Given the description of an element on the screen output the (x, y) to click on. 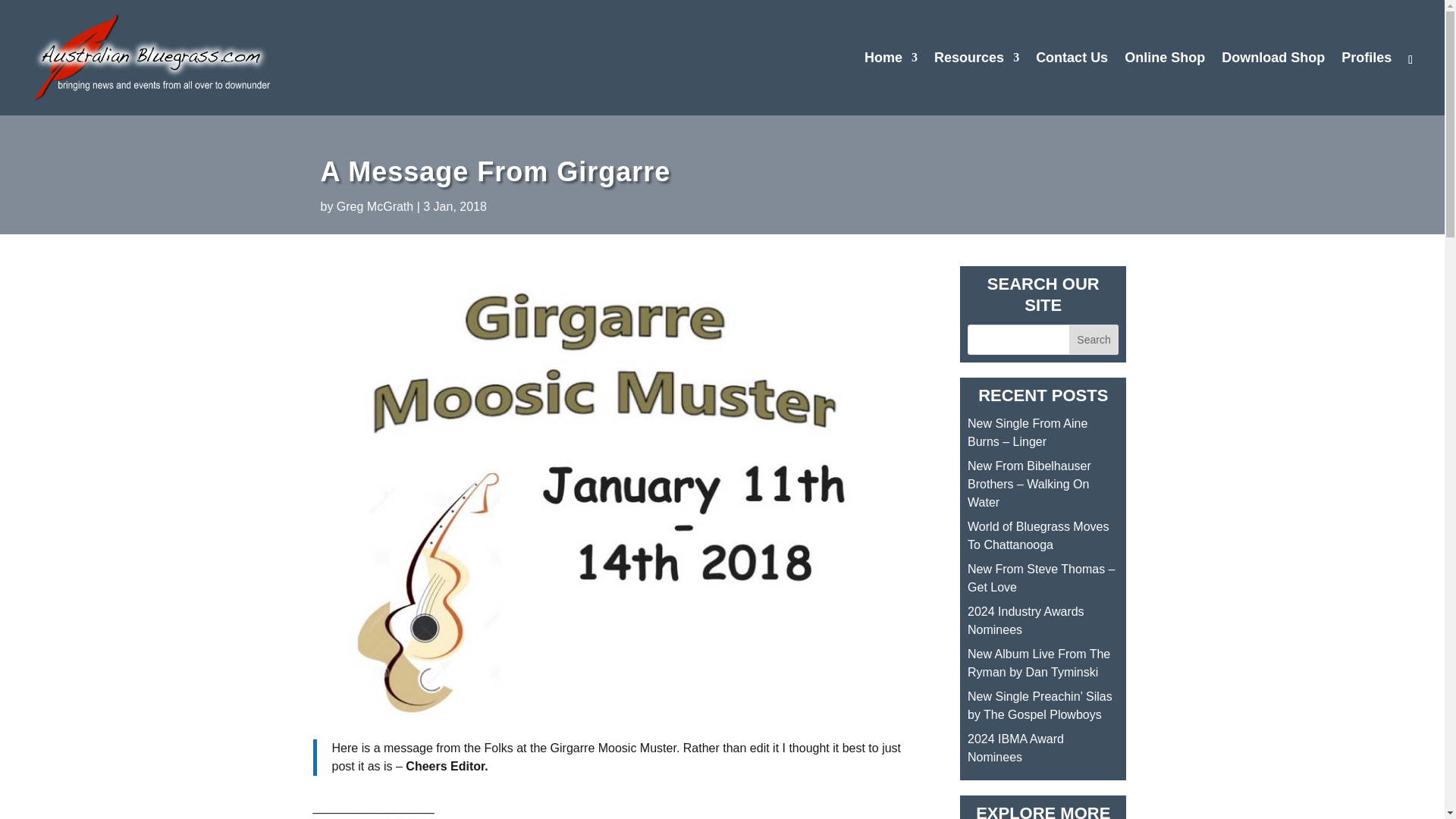
Send an email from this web page (1071, 83)
Download Shop (1272, 83)
World of Bluegrass Moves To Chattanooga (1038, 535)
Greg McGrath (374, 205)
Resources (976, 83)
Online Shop (1164, 83)
Contact Us (1071, 83)
Search (1093, 339)
2024 Industry Awards Nominees (1026, 620)
